Given the description of an element on the screen output the (x, y) to click on. 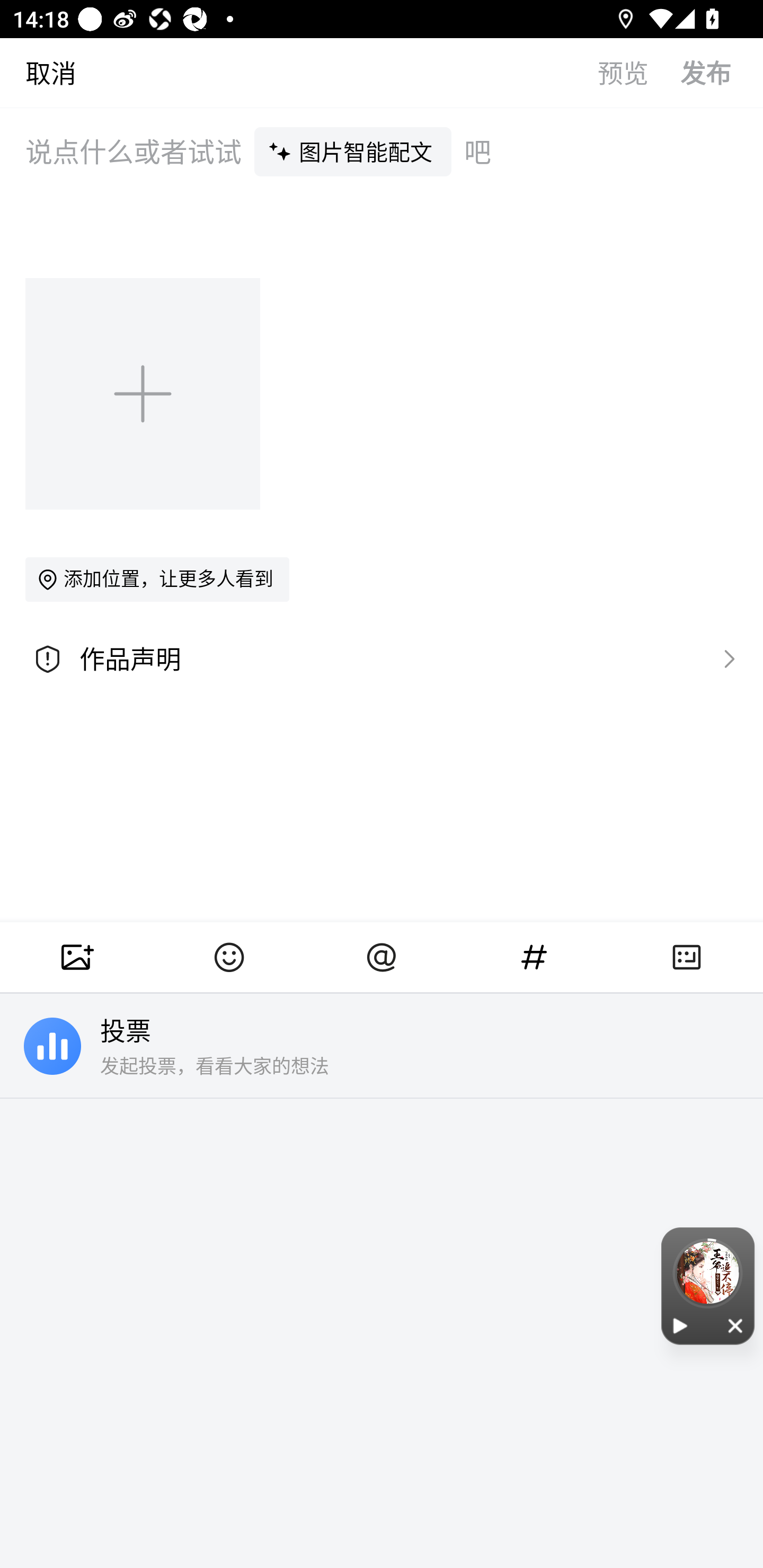
取消 (38, 71)
预览 (638, 71)
发布 (721, 71)
图片智能配文 (352, 151)
添加图片 (144, 393)
添加位置，让更多人看到 (157, 579)
作品声明 高级设置 作品声明 高级设置 (381, 658)
高级设置 (724, 658)
相册 (76, 956)
表情 (228, 956)
at (381, 956)
话题 (533, 956)
收起更多面板 (686, 956)
投票 发起投票，看看大家的想法 (381, 1046)
播放 关闭 (708, 1286)
播放 (680, 1325)
关闭 (736, 1325)
